Given the description of an element on the screen output the (x, y) to click on. 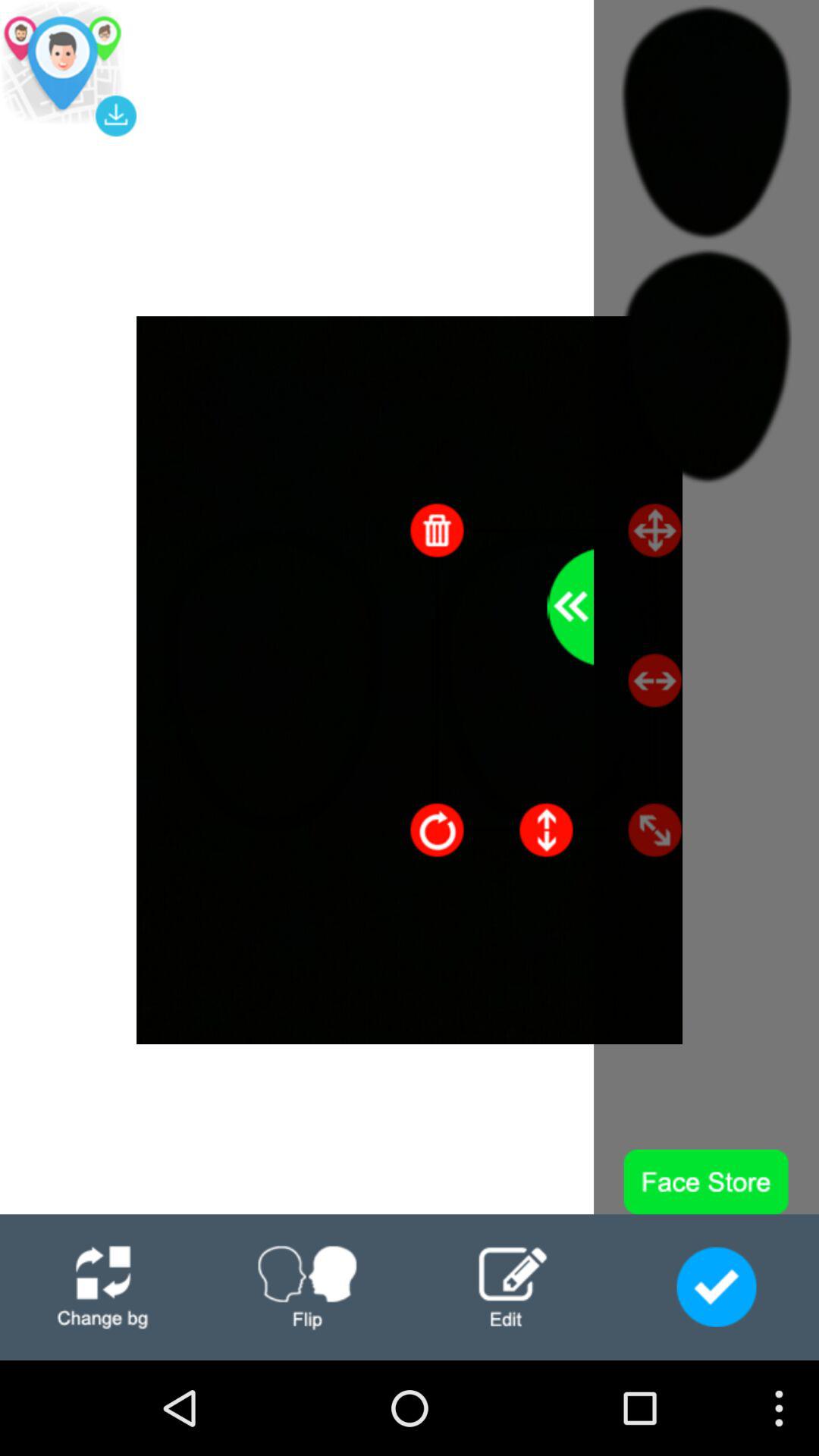
fip option (306, 1287)
